Given the description of an element on the screen output the (x, y) to click on. 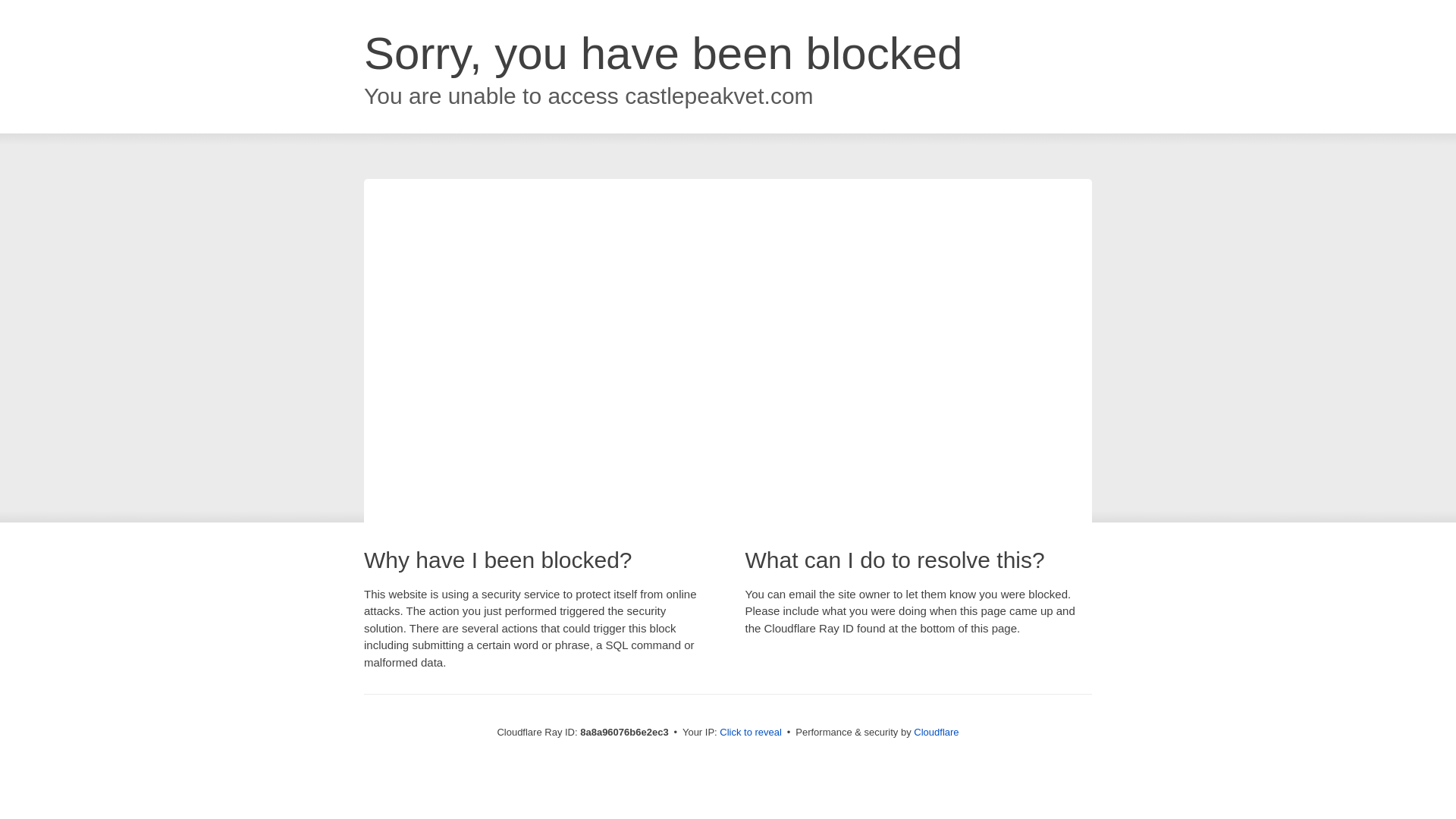
Cloudflare (936, 731)
Click to reveal (750, 732)
